Given the description of an element on the screen output the (x, y) to click on. 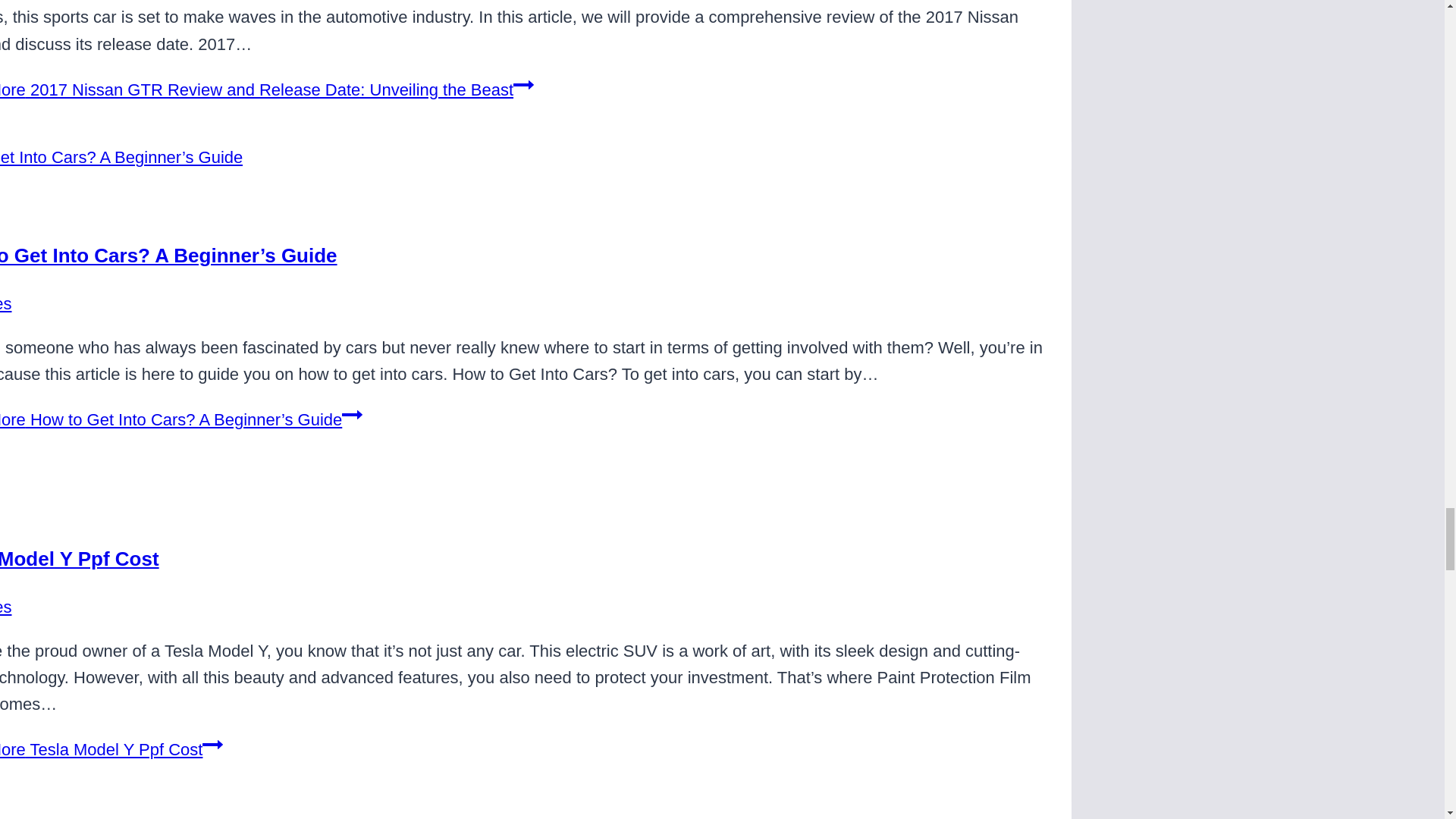
Continue (352, 414)
Tesla Model Y Ppf Cost (79, 558)
Continue (212, 744)
Read More Tesla Model Y Ppf CostContinue (111, 749)
Continue (523, 84)
